Given the description of an element on the screen output the (x, y) to click on. 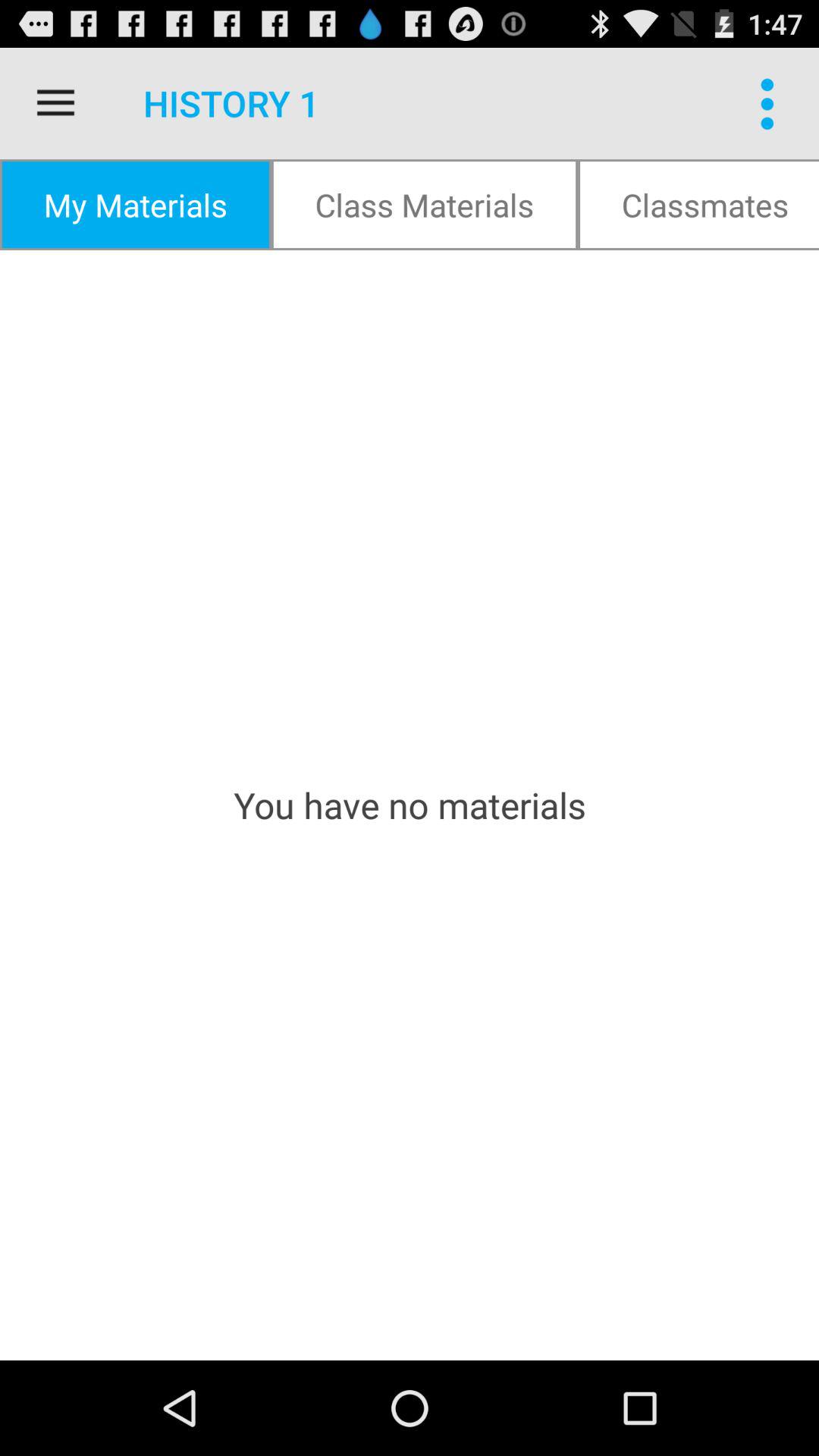
turn on the icon next to the class materials item (135, 204)
